Given the description of an element on the screen output the (x, y) to click on. 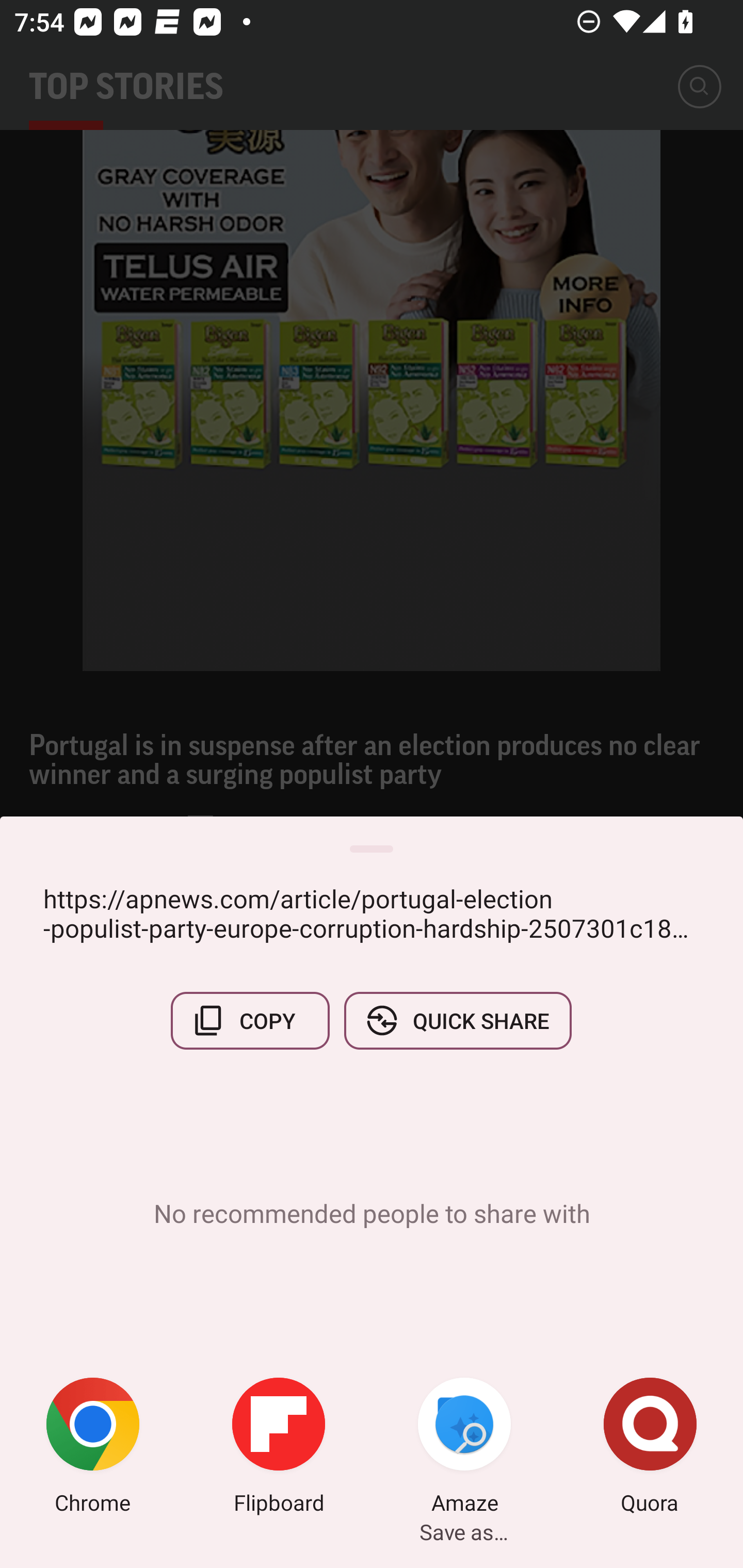
COPY (249, 1020)
QUICK SHARE (457, 1020)
Chrome (92, 1448)
Flipboard (278, 1448)
Amaze Save as… (464, 1448)
Quora (650, 1448)
